Given the description of an element on the screen output the (x, y) to click on. 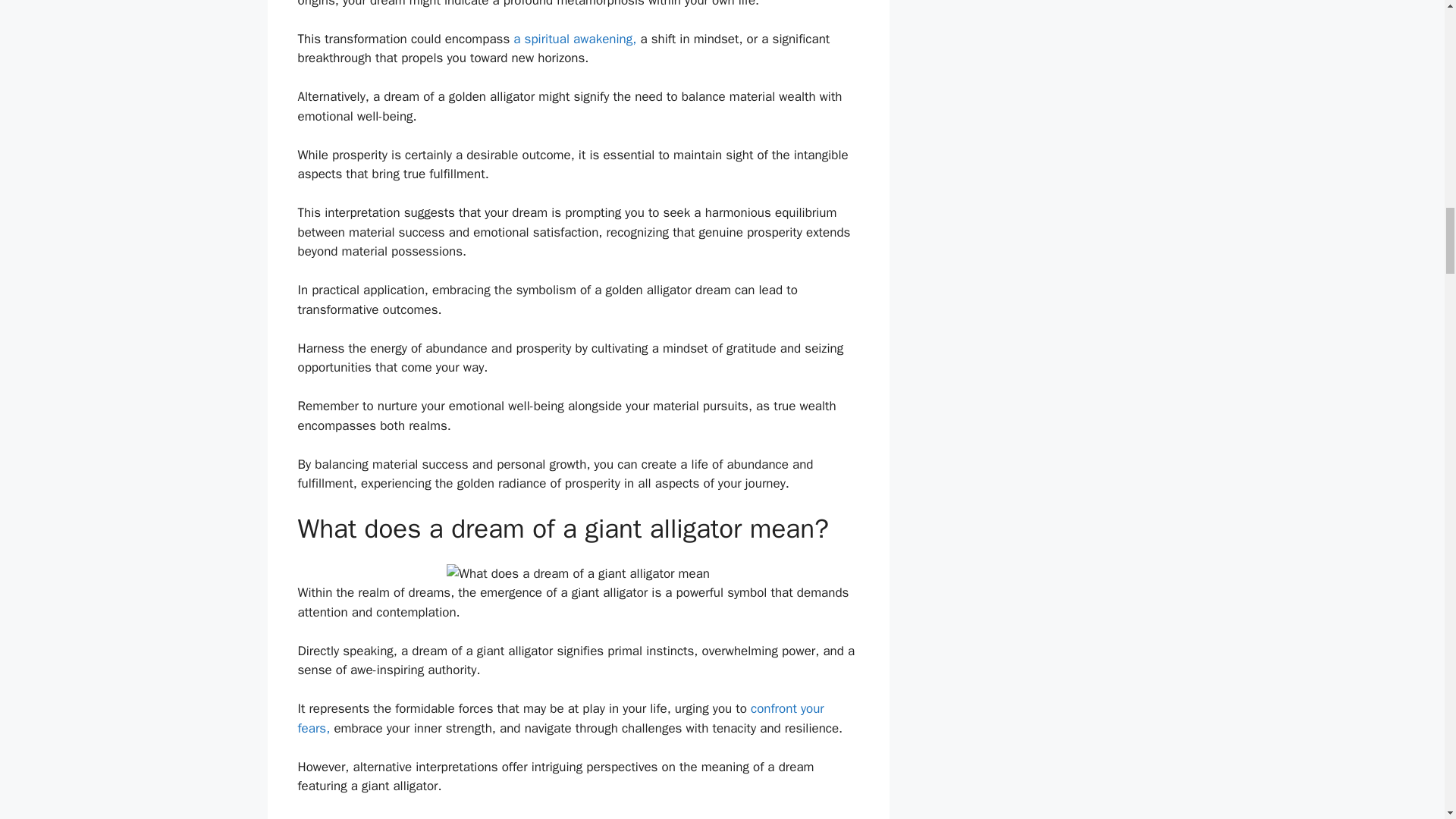
confront your fears, (560, 718)
a spiritual awakening, (574, 38)
